Given the description of an element on the screen output the (x, y) to click on. 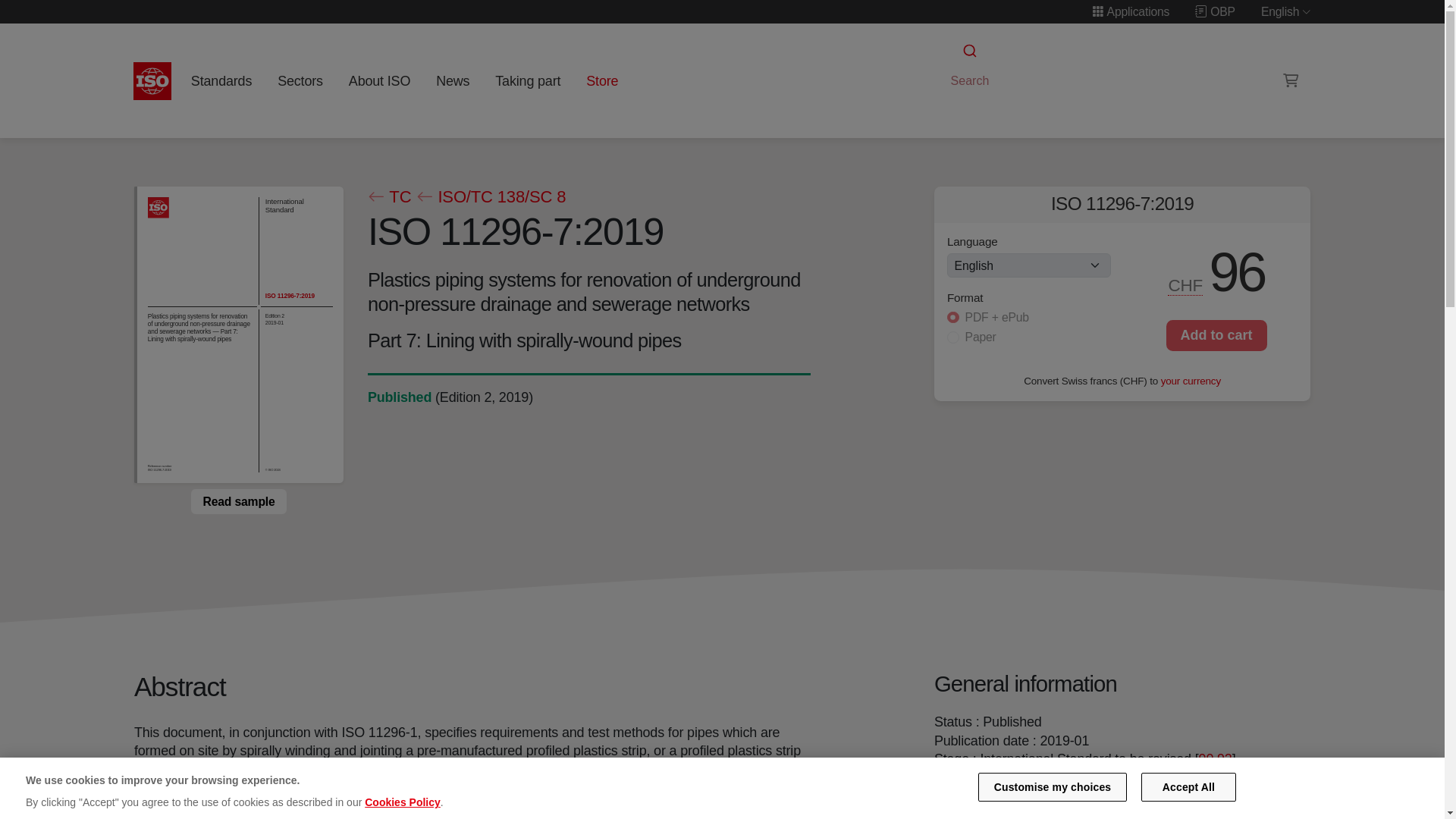
TC (388, 197)
News (452, 80)
 Applications (1130, 11)
your currency (1190, 379)
Taking part (528, 80)
90.92 (1214, 758)
Read sample (237, 501)
Submit (968, 51)
Published (398, 396)
Store (601, 80)
ISO's applications portal (1130, 11)
About ISO (379, 80)
